Given the description of an element on the screen output the (x, y) to click on. 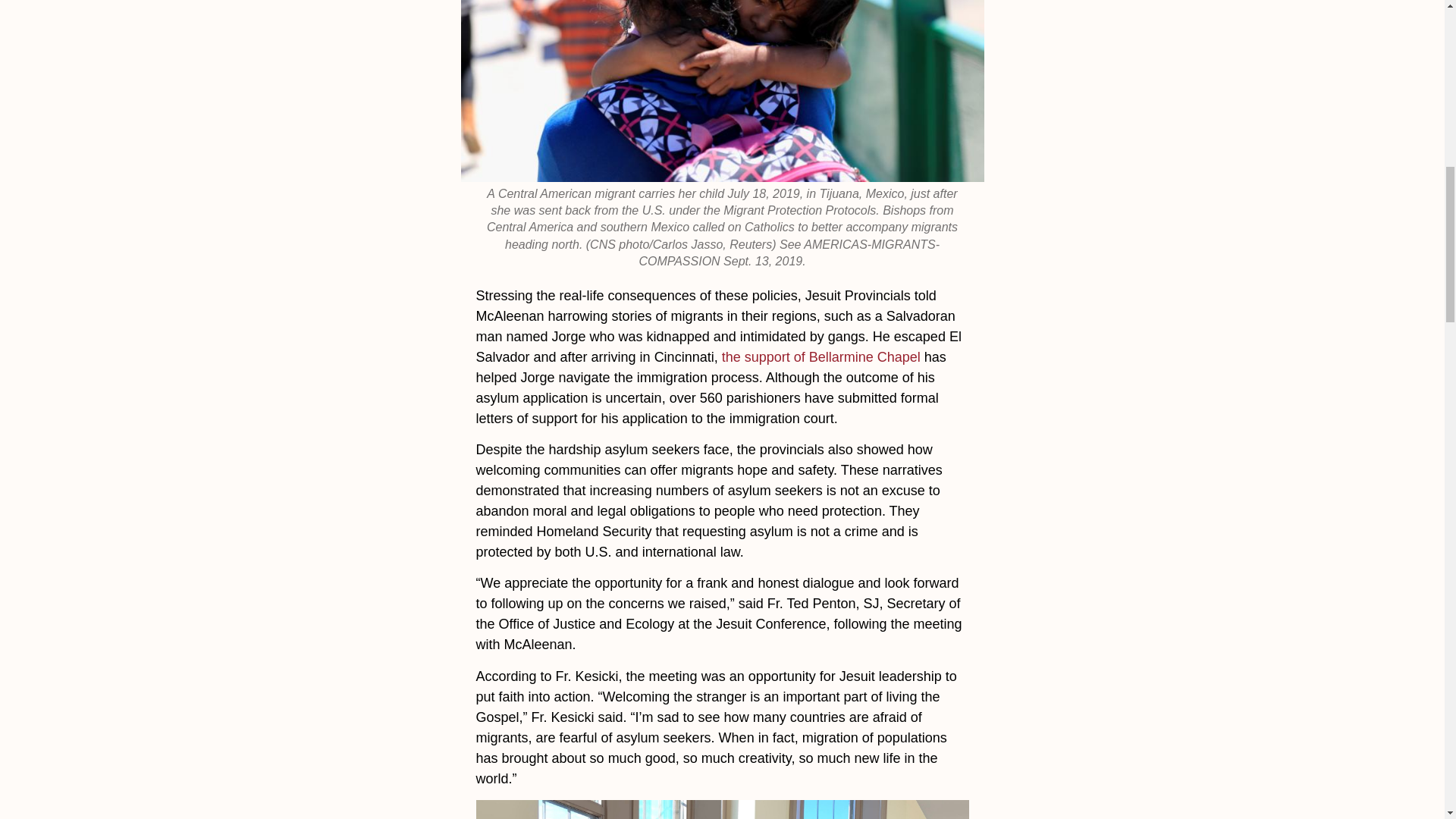
the support of Bellarmine Chapel (821, 356)
